Given the description of an element on the screen output the (x, y) to click on. 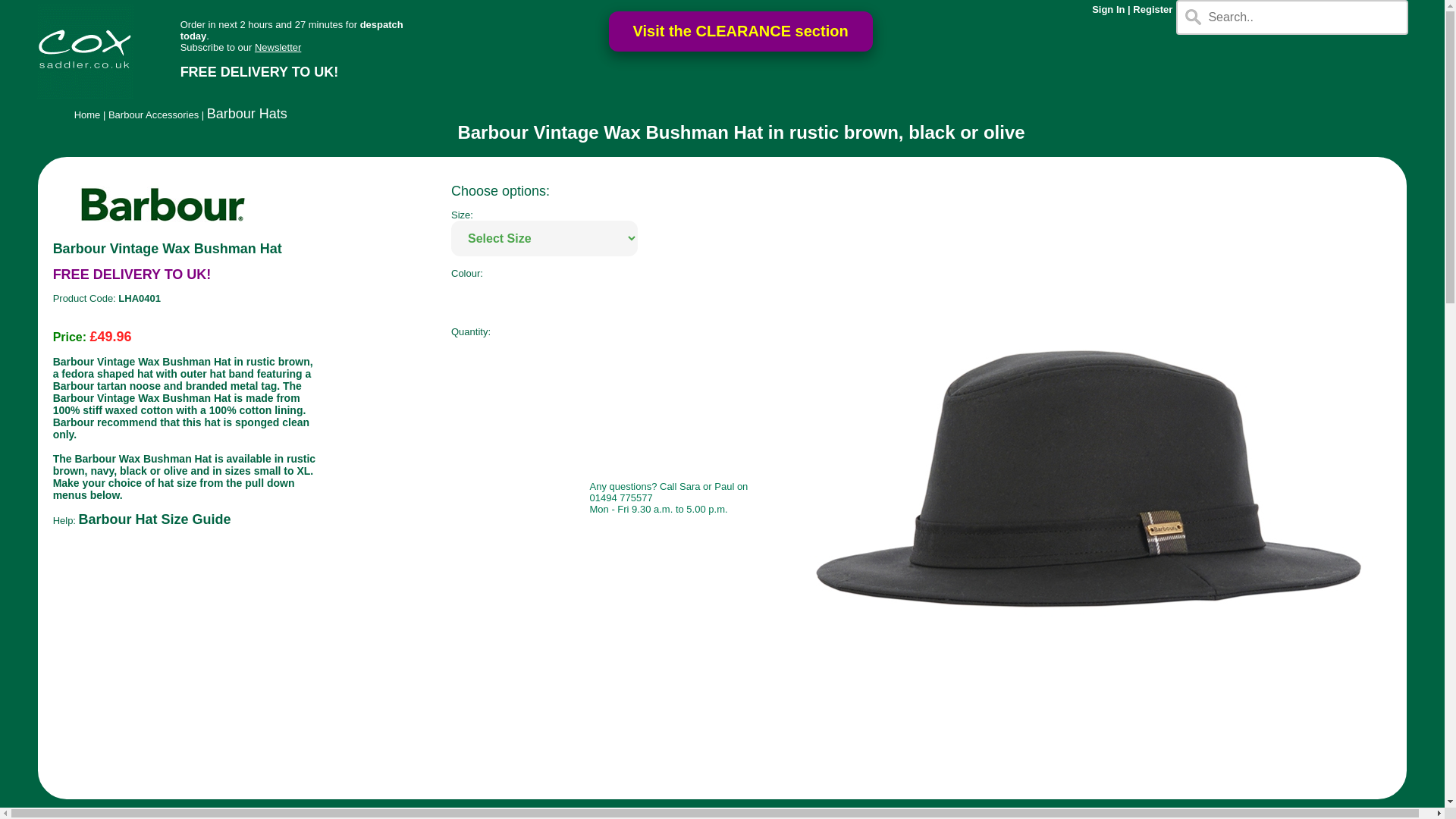
Visit the CLEARANCE section (740, 31)
Barbour Accessories (152, 114)
Add to cart (515, 426)
Home (87, 114)
Register (1152, 9)
Visit the CLEARANCE section (740, 31)
Newsletter (277, 47)
Barbour Hats (246, 114)
Barbour Hat Size Guide (154, 520)
Sign In (1108, 9)
